Given the description of an element on the screen output the (x, y) to click on. 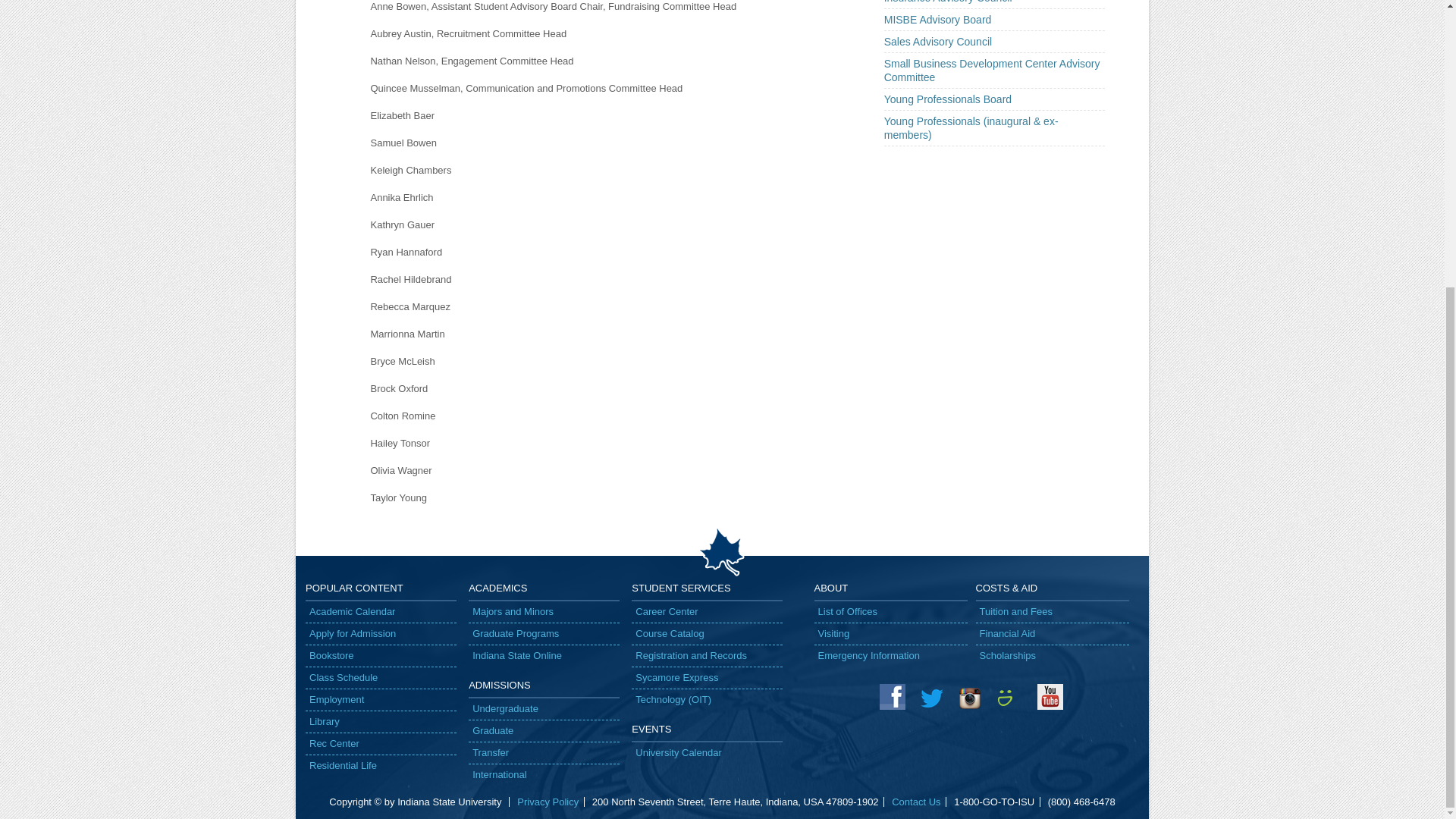
Instagram (971, 696)
Facebook (892, 696)
Youtube (1049, 696)
SmugMug (1010, 696)
Twitter (931, 696)
